Given the description of an element on the screen output the (x, y) to click on. 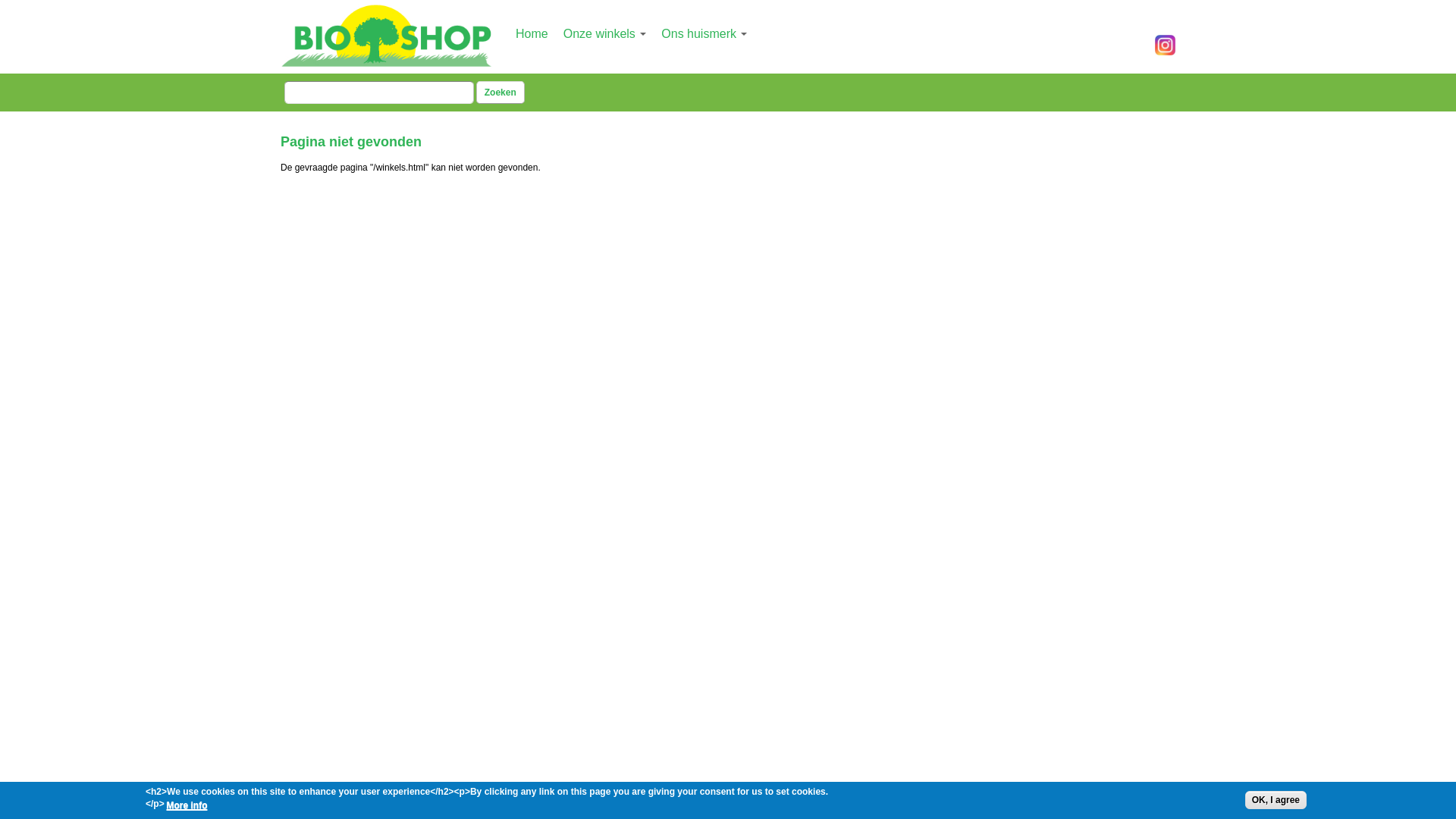
Geef de woorden op waarnaar u wilt zoeken. Element type: hover (378, 92)
Onze winkels Element type: text (604, 33)
Overslaan en naar de algemene inhoud gaan Element type: text (713, 1)
Zoeken Element type: text (500, 92)
OK, I agree Element type: text (1275, 799)
Home Element type: text (531, 33)
More info Element type: text (186, 805)
Ons huismerk Element type: text (703, 33)
